Given the description of an element on the screen output the (x, y) to click on. 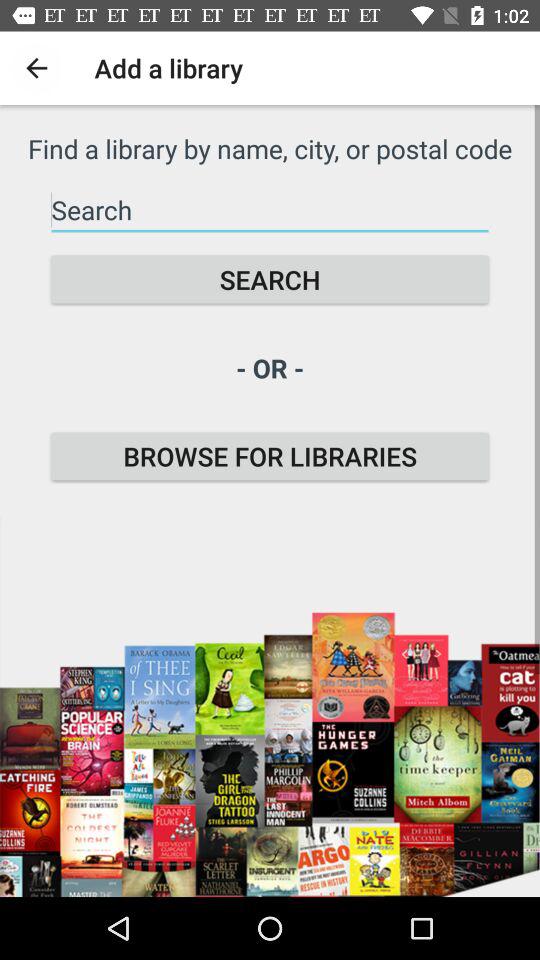
choose the icon to the left of add a library icon (36, 68)
